Given the description of an element on the screen output the (x, y) to click on. 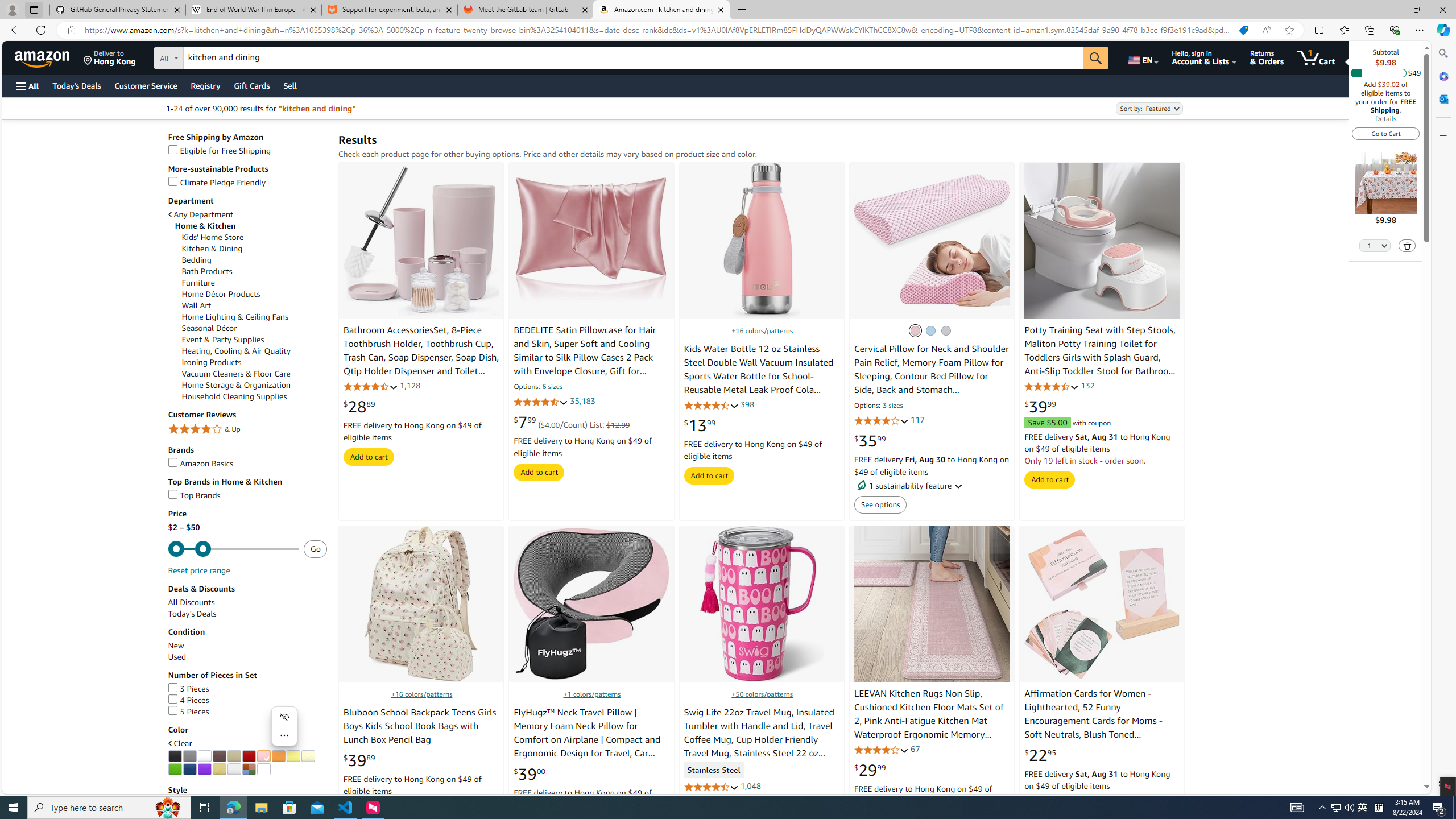
AutomationID: p_n_feature_twenty_browse-bin/3254110011 (204, 769)
GitHub General Privacy Statement - GitHub Docs (117, 9)
Multi (248, 769)
Yellow (292, 756)
Sort by: (1148, 108)
5 Pieces (188, 711)
Delete (1407, 245)
$13.99 (700, 425)
Side bar (1443, 418)
Black (174, 756)
App bar (728, 29)
